Given the description of an element on the screen output the (x, y) to click on. 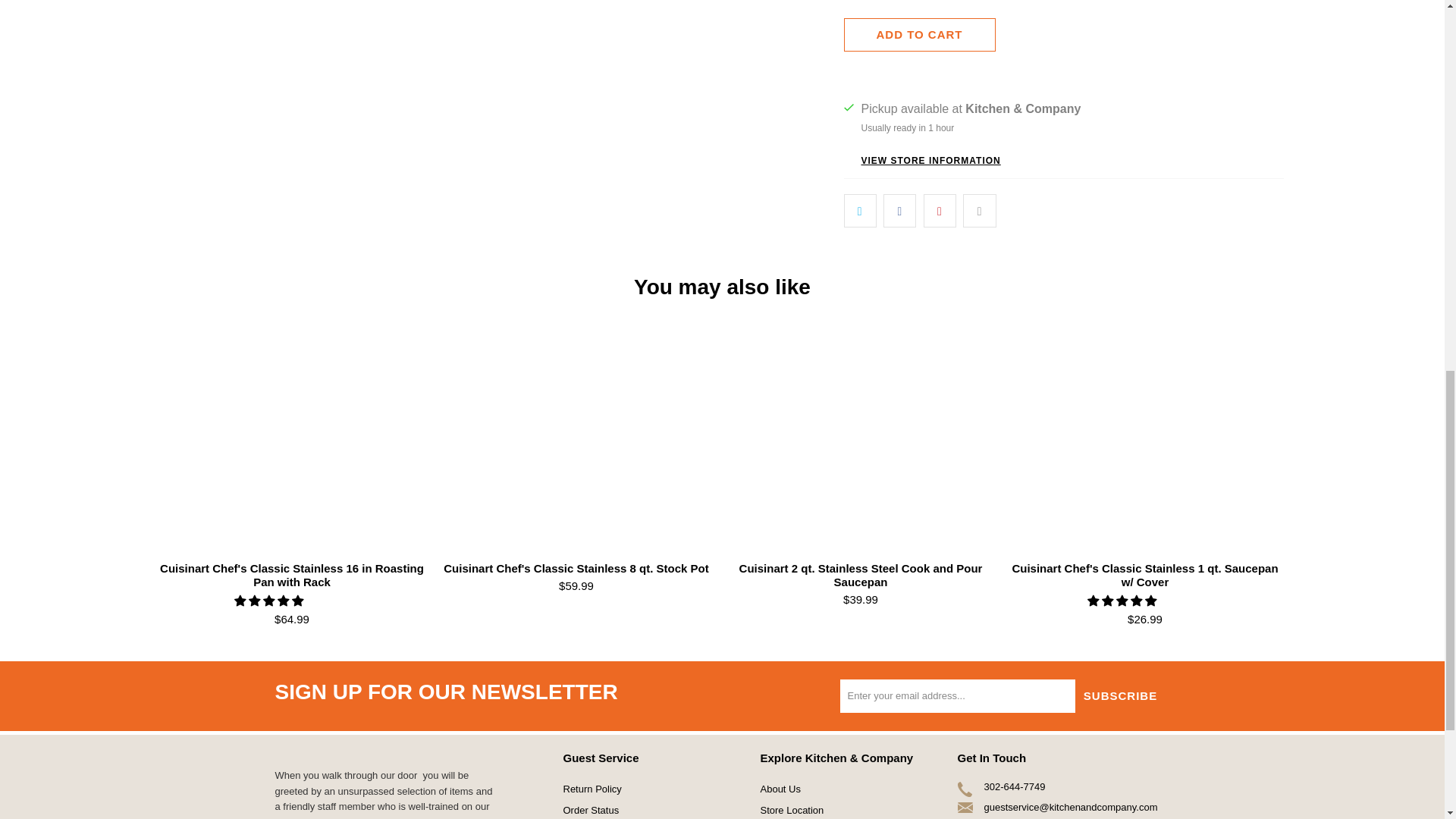
Share this on Twitter (859, 210)
Subscribe (1120, 695)
Email this to a friend (978, 210)
Share this on Facebook (899, 210)
Share this on Pinterest (939, 210)
